Given the description of an element on the screen output the (x, y) to click on. 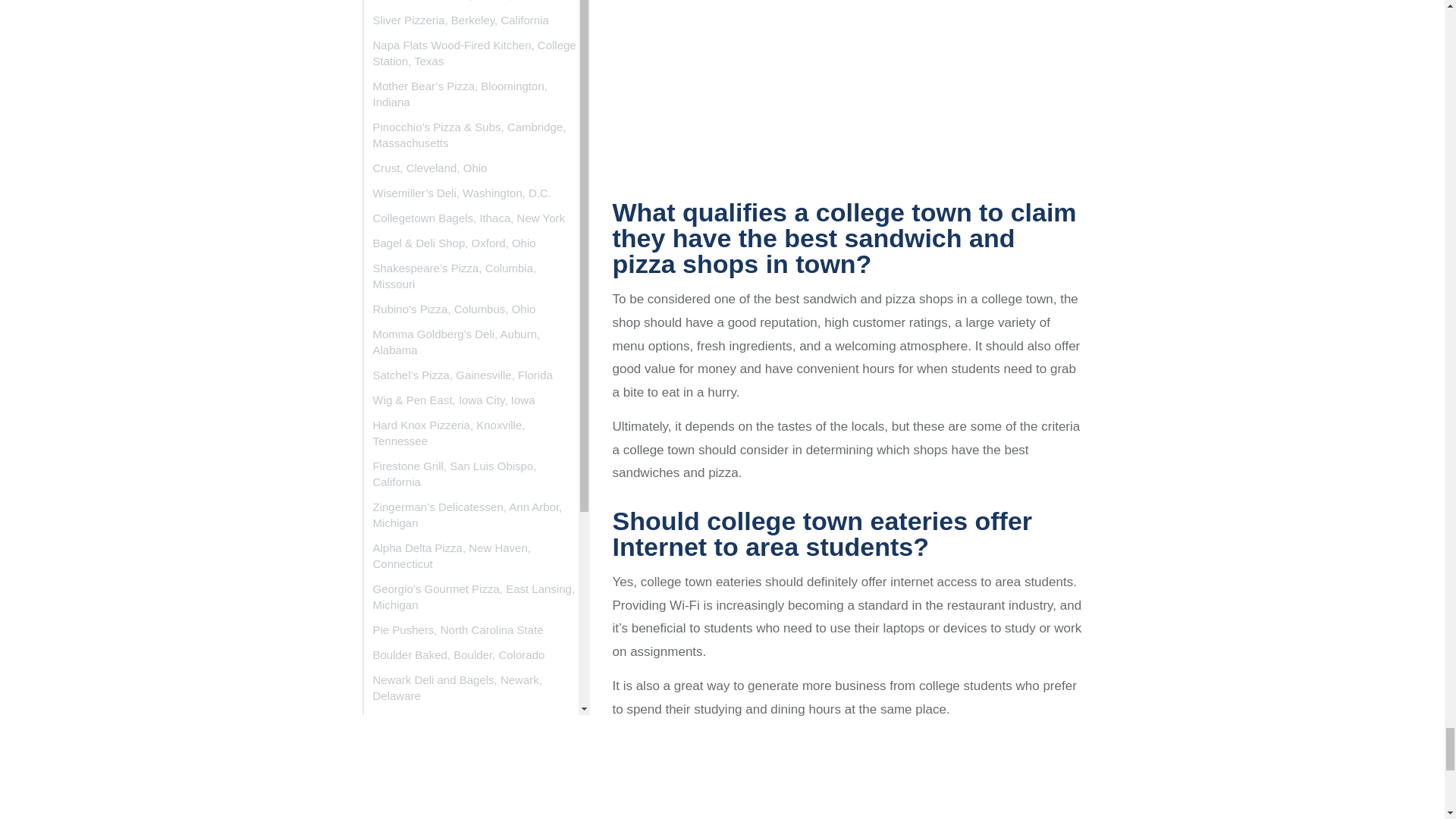
Why Are College Towns So Great? (847, 89)
